Given the description of an element on the screen output the (x, y) to click on. 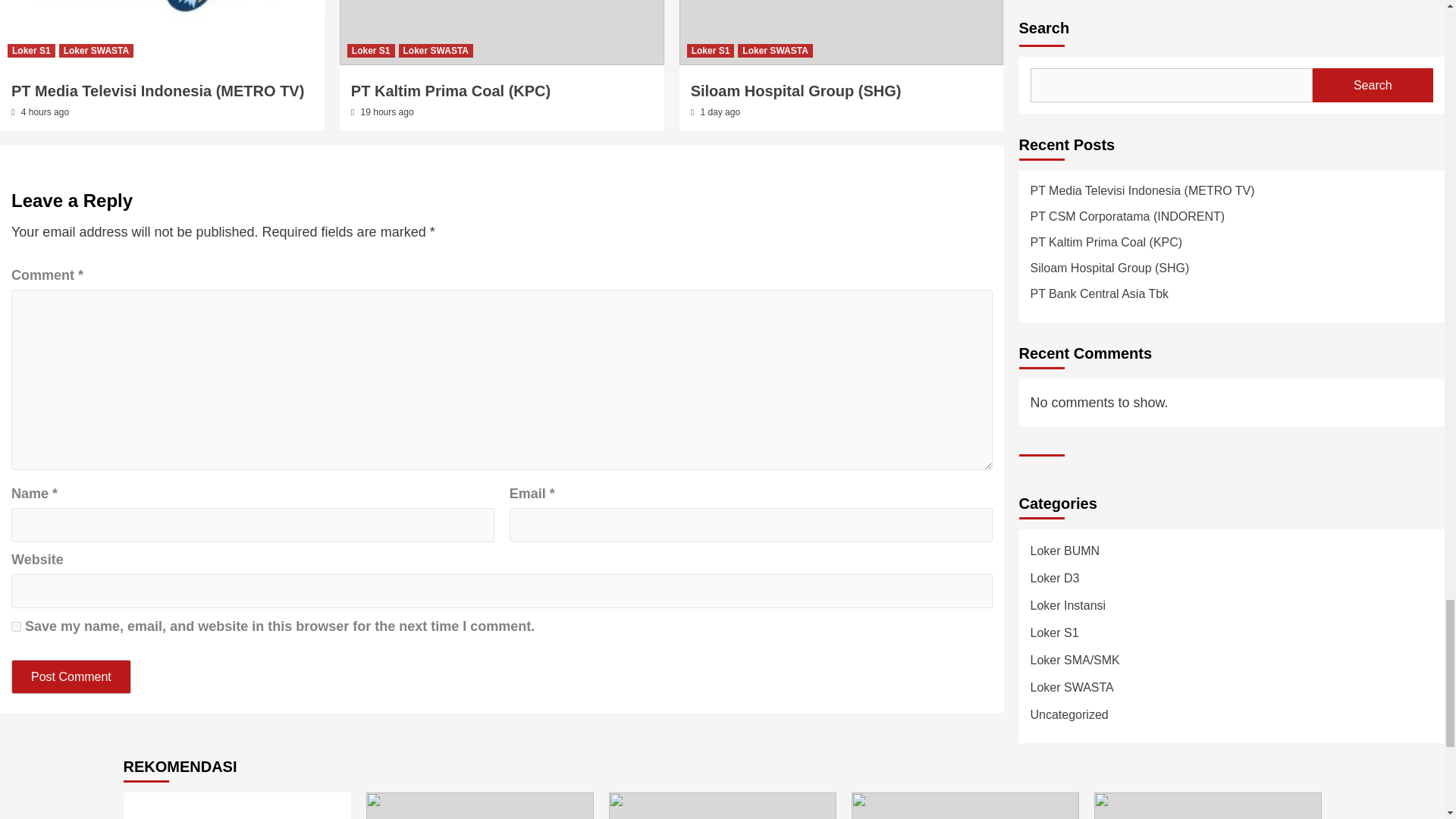
yes (16, 626)
Loker SWASTA (96, 50)
Post Comment (71, 676)
Post Comment (71, 676)
Loker SWASTA (435, 50)
4 hours ago (44, 112)
19 hours ago (387, 112)
Loker S1 (31, 50)
Loker SWASTA (775, 50)
Loker S1 (711, 50)
1 day ago (719, 112)
Loker S1 (370, 50)
